Given the description of an element on the screen output the (x, y) to click on. 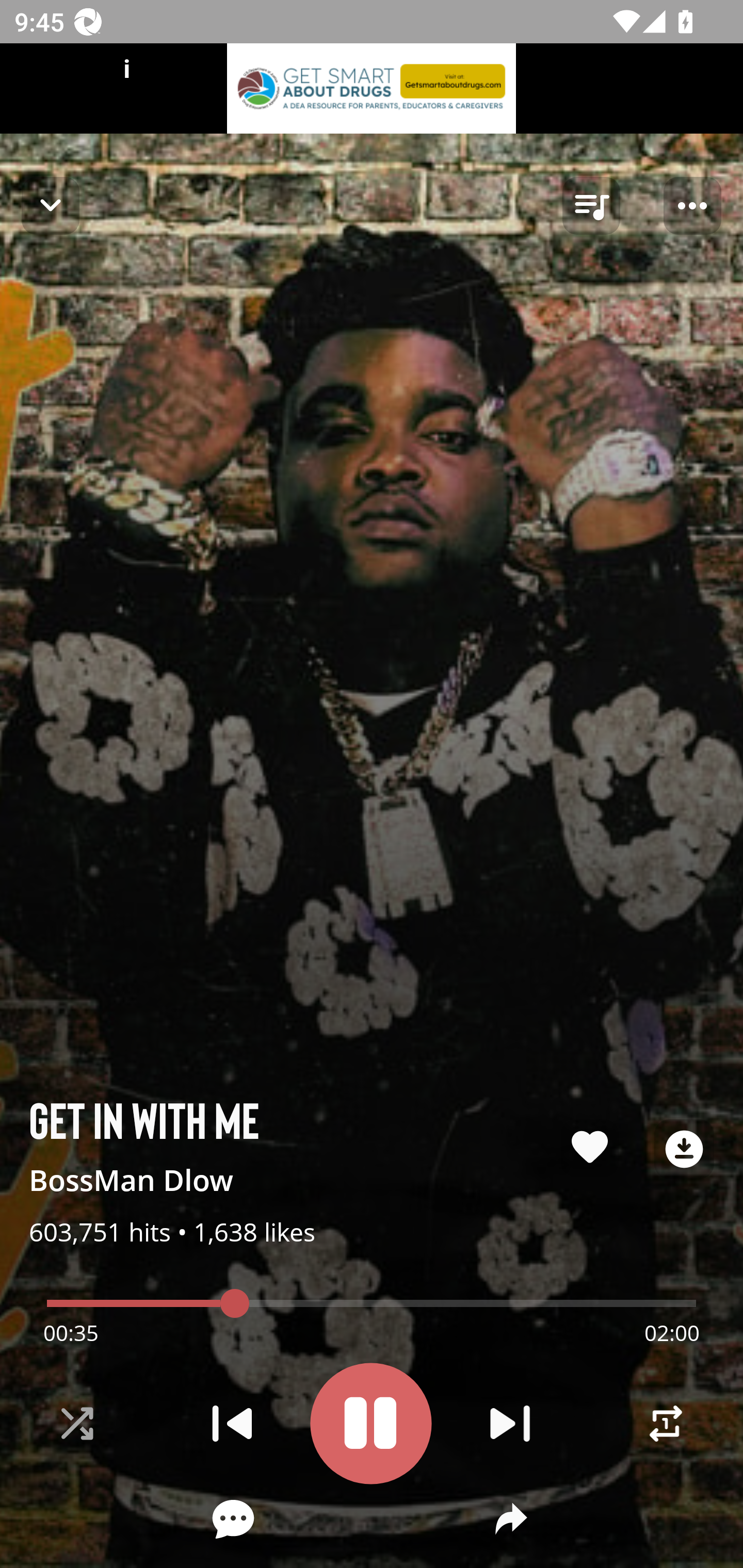
Navigate up (50, 205)
queue (590, 206)
Player options (692, 206)
